Given the description of an element on the screen output the (x, y) to click on. 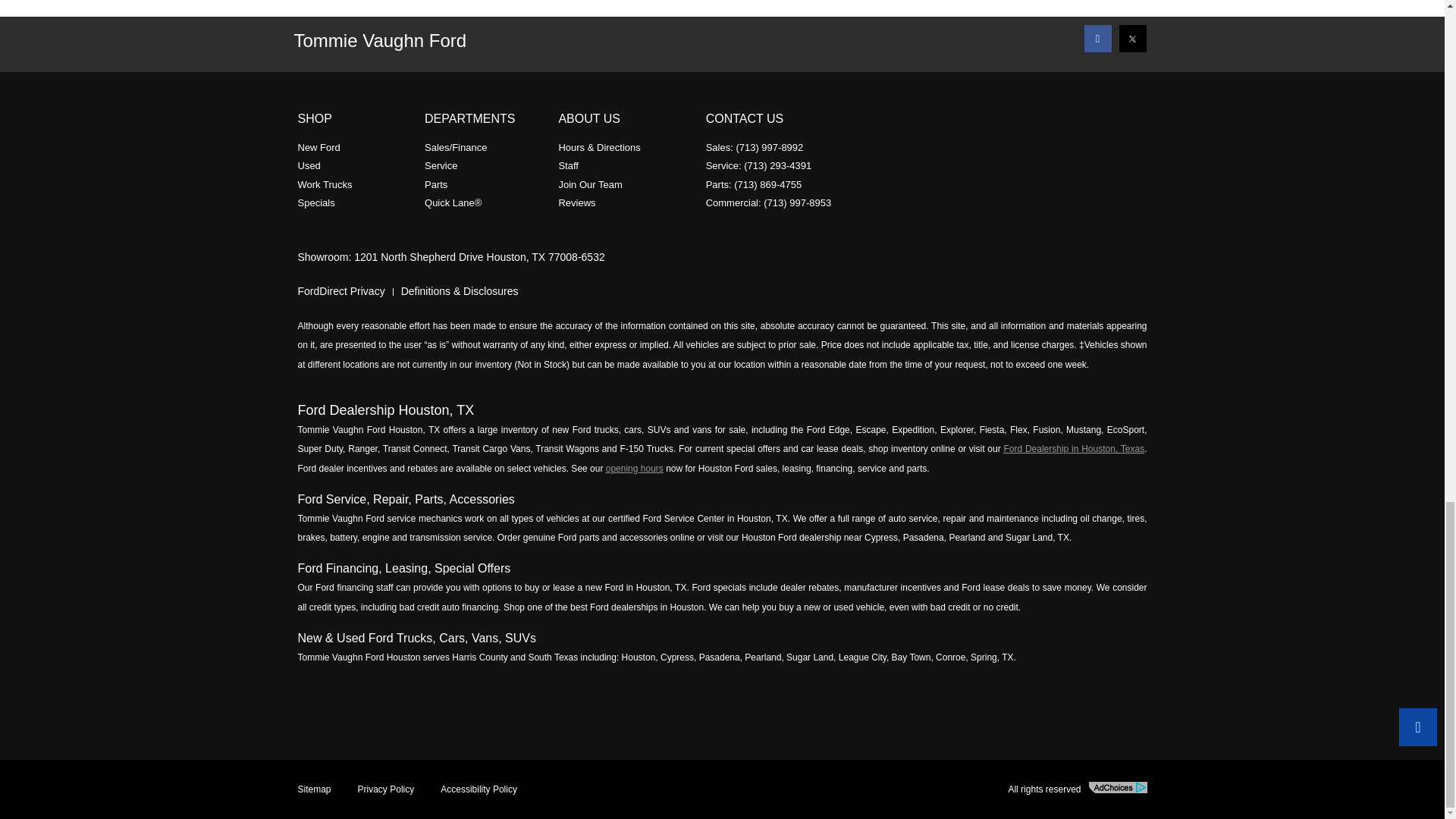
AdChoices (1118, 787)
